Given the description of an element on the screen output the (x, y) to click on. 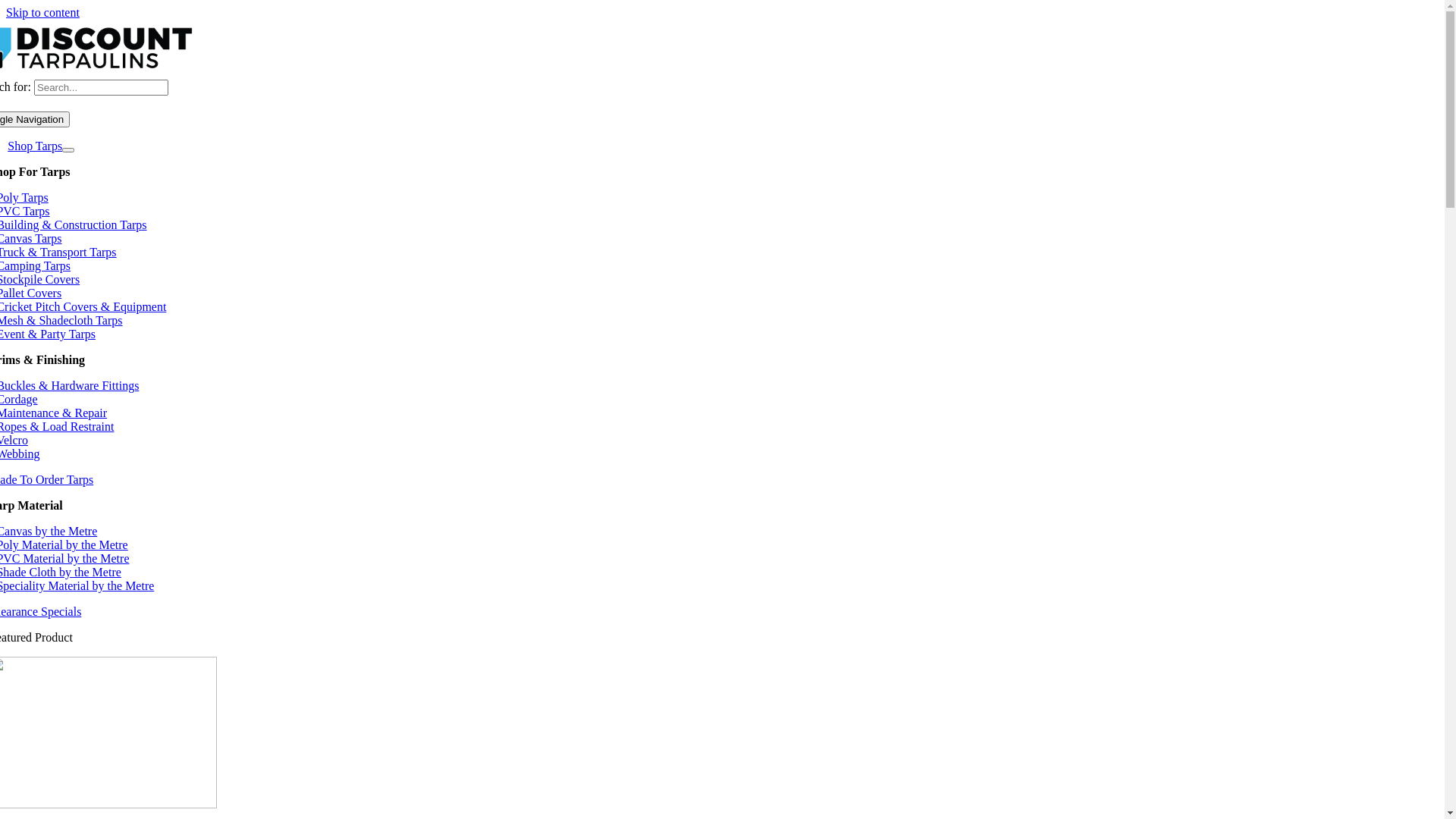
Skip to content Element type: text (42, 12)
Shop Tarps Element type: text (34, 145)
